Given the description of an element on the screen output the (x, y) to click on. 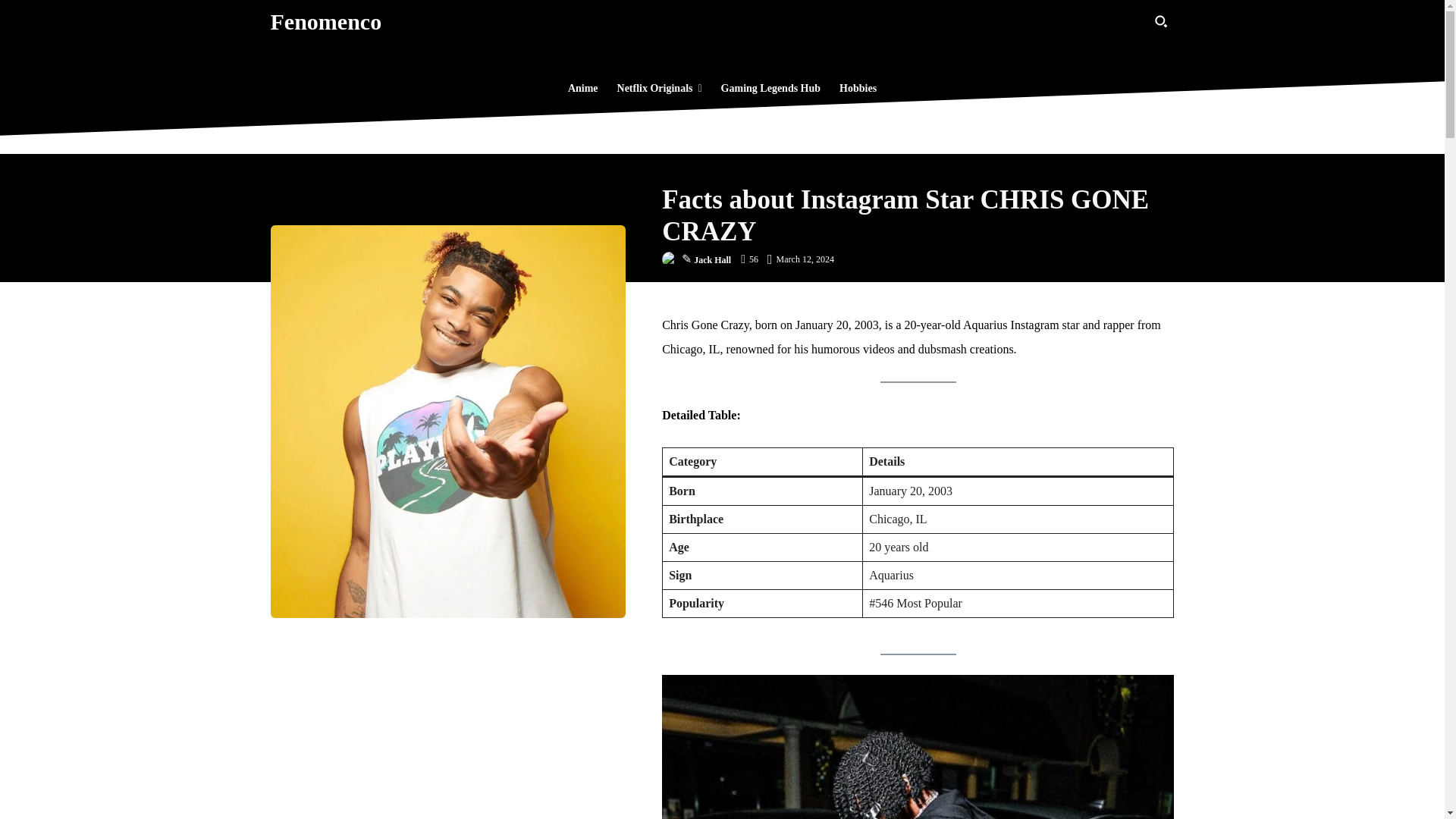
Anime (582, 88)
Fenomenco (325, 21)
Jack Hall (671, 258)
Hobbies (857, 88)
Jack Hall (712, 259)
Gaming Legends Hub (770, 88)
Netflix Originals (660, 88)
